Given the description of an element on the screen output the (x, y) to click on. 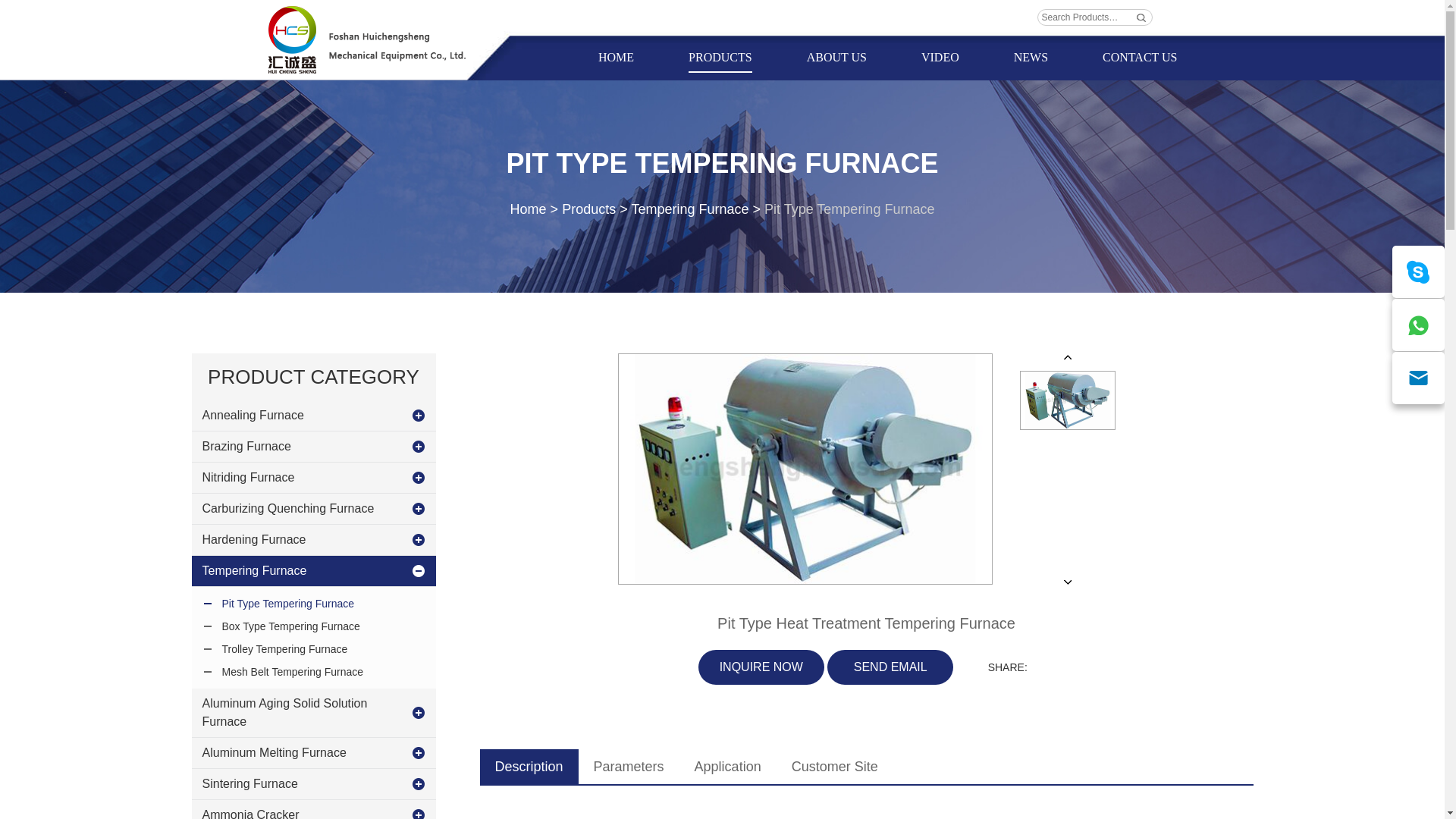
Products (720, 57)
Foshan Huichengsheng Mechanical Equipment Co., Ltd. (366, 39)
Foshan Huichengsheng Mechanical Equipment Co., Ltd. (366, 39)
PRODUCTS (720, 57)
